Given the description of an element on the screen output the (x, y) to click on. 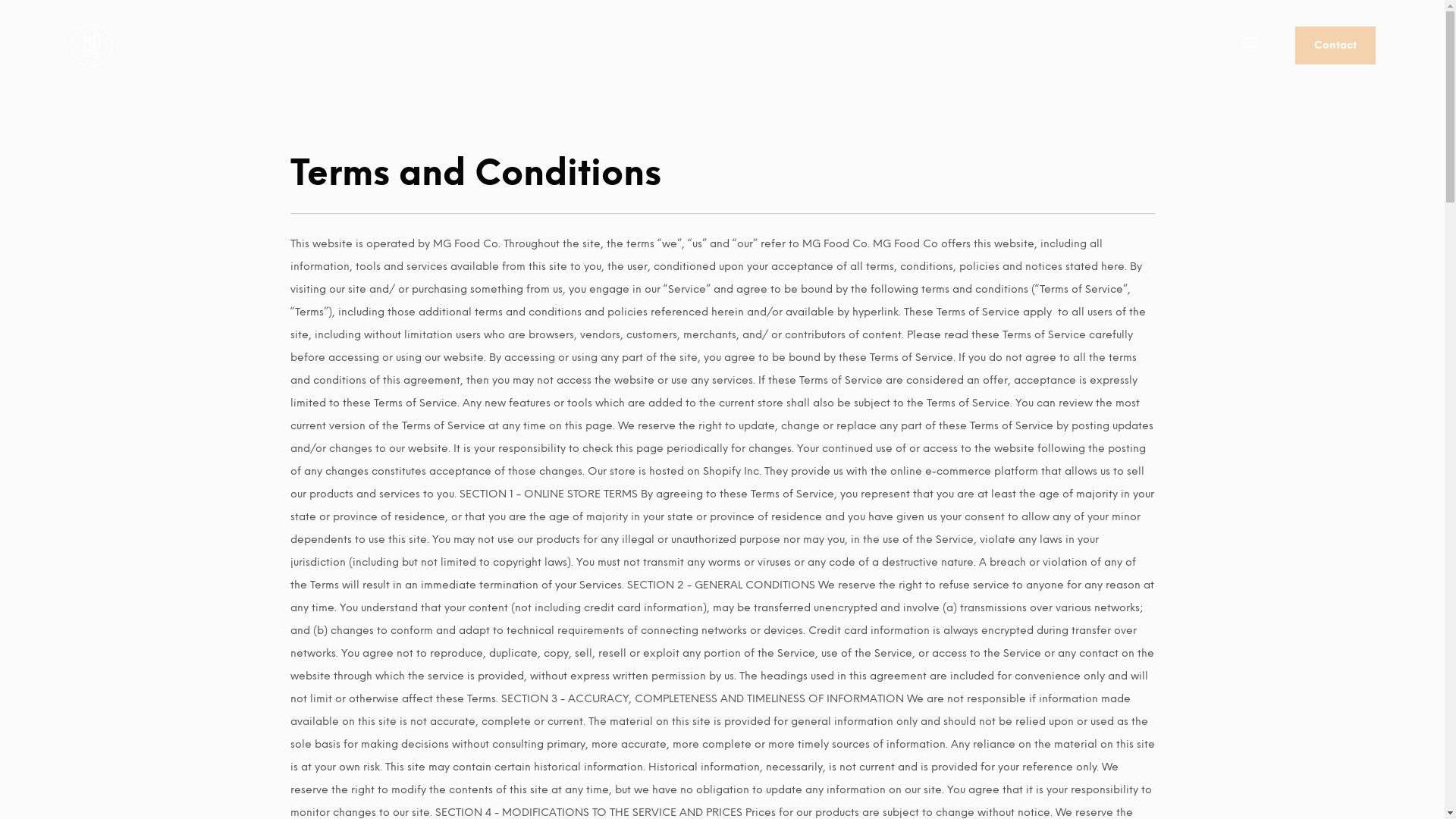
Seriously Good Granola Element type: hover (91, 45)
Contact Element type: text (1335, 45)
